Given the description of an element on the screen output the (x, y) to click on. 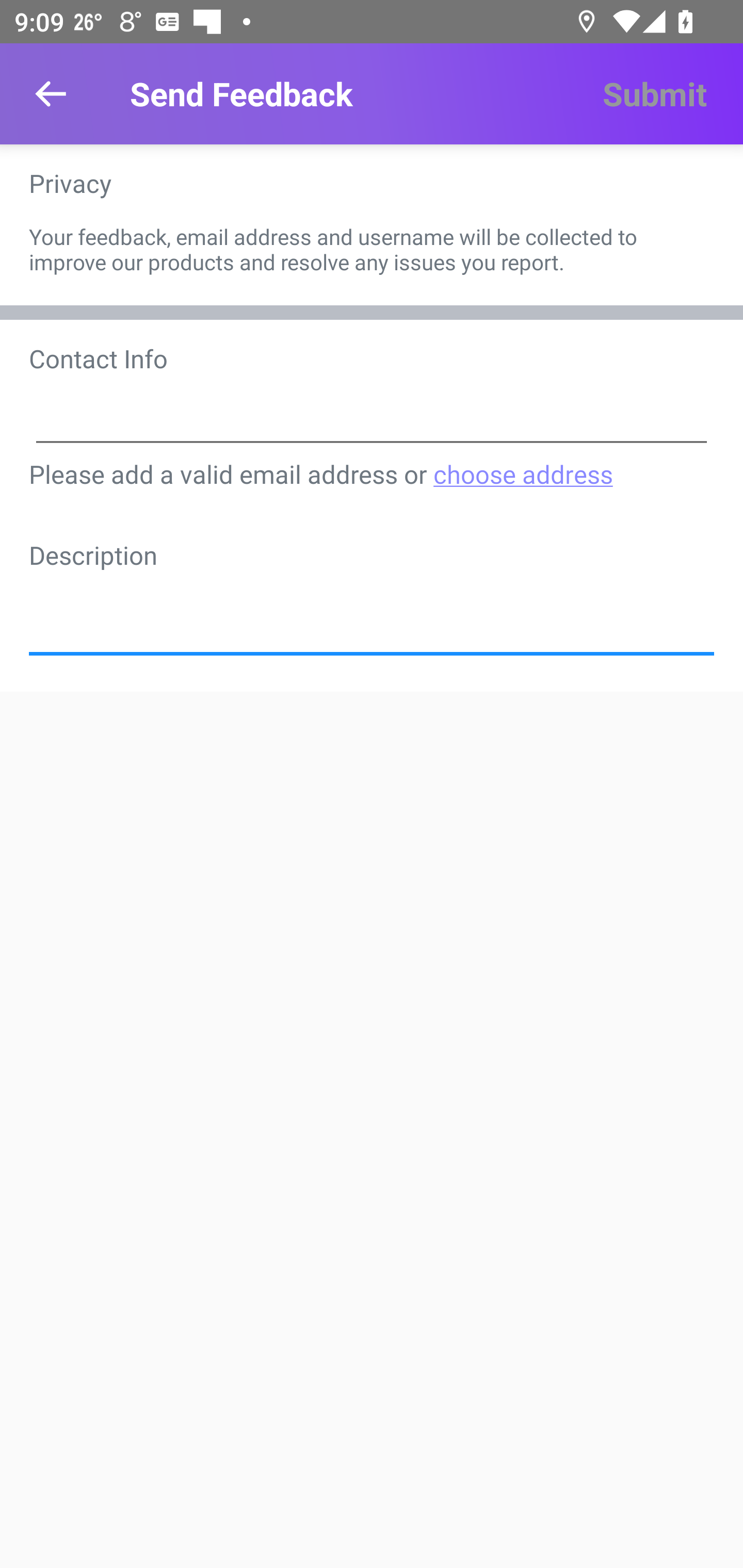
Navigate up (50, 93)
Submit (654, 94)
choose address (522, 473)
feedback (371, 608)
